Given the description of an element on the screen output the (x, y) to click on. 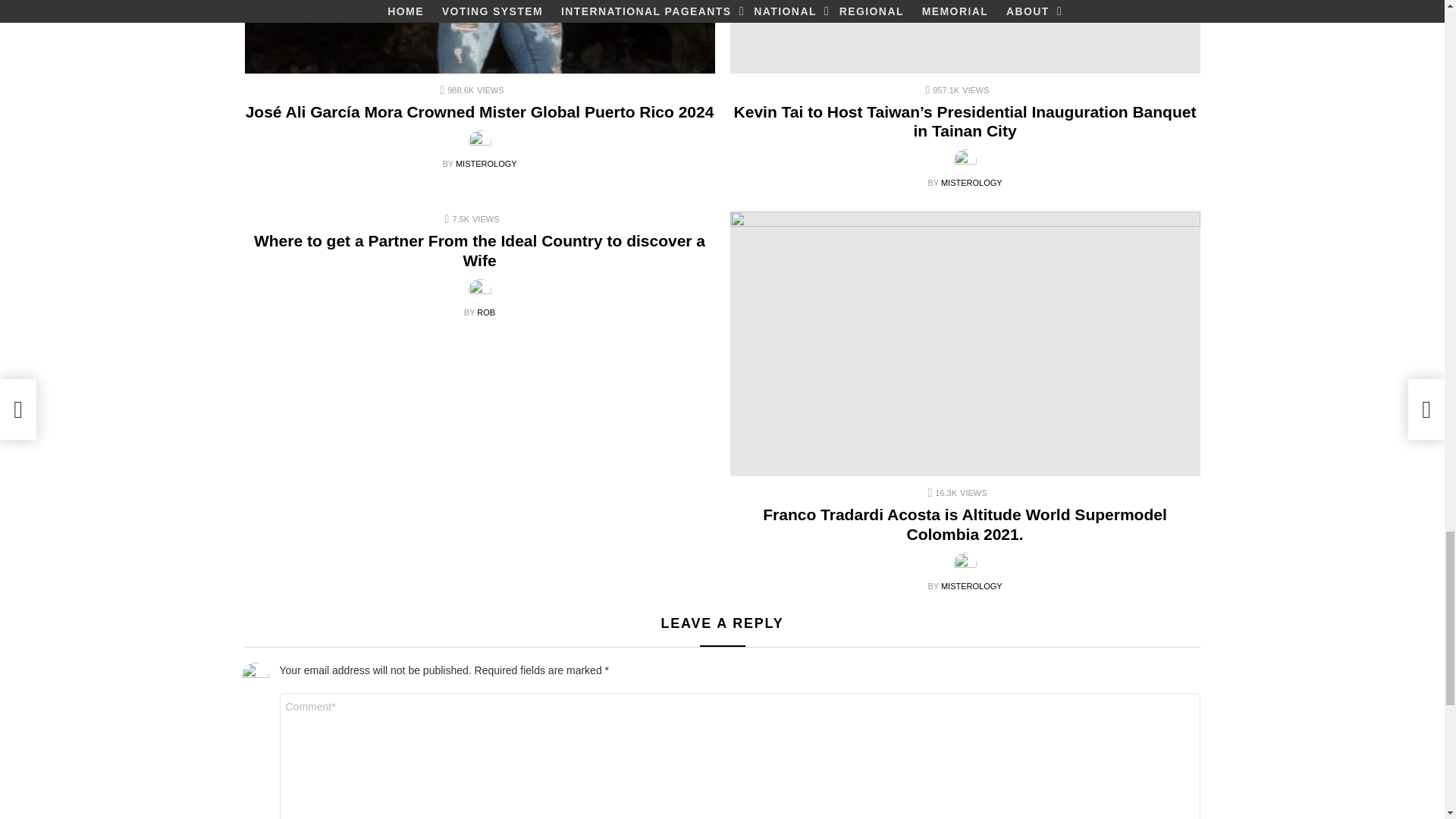
Posts by misterology (485, 163)
Posts by misterology (971, 182)
Posts by Rob (486, 311)
Posts by misterology (971, 585)
